Given the description of an element on the screen output the (x, y) to click on. 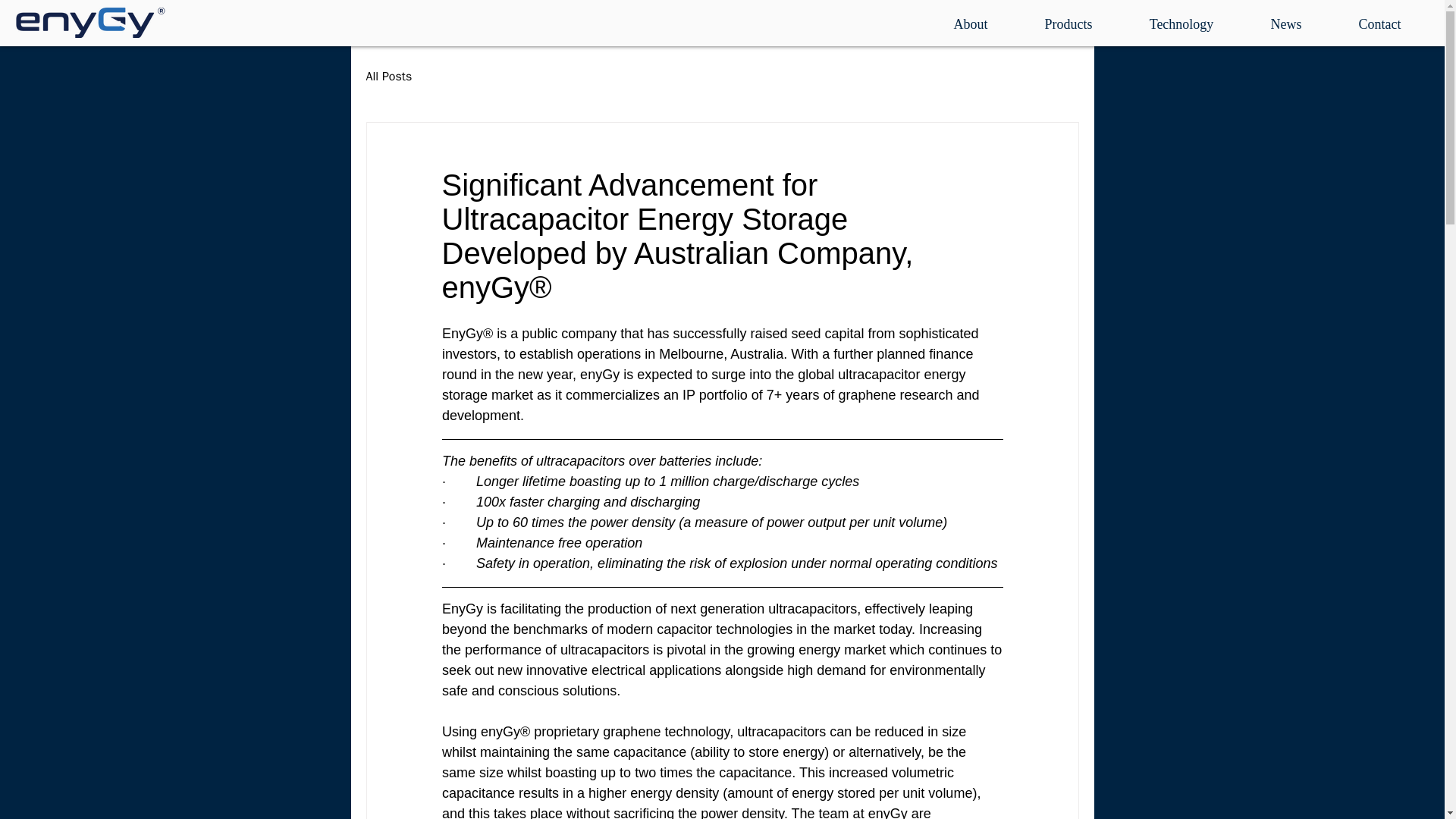
All Posts (388, 75)
News (1285, 23)
Products (1068, 23)
Technology (1181, 23)
About (970, 23)
Contact (1379, 23)
